Given the description of an element on the screen output the (x, y) to click on. 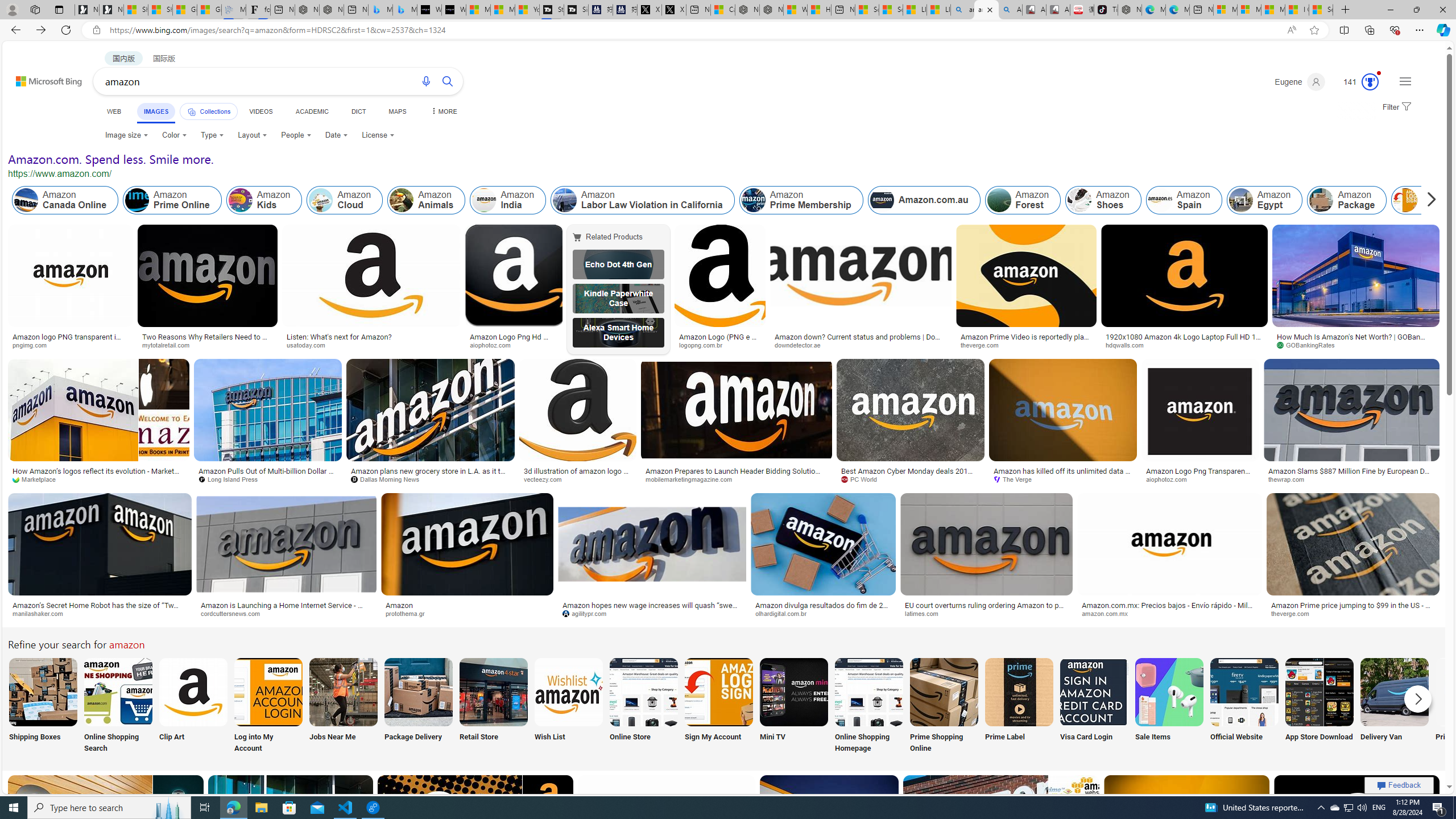
downdetector.ae (860, 344)
Amazon Forest (999, 200)
Two Reasons Why Retailers Need to Leverage Amazon (208, 340)
Amazon Cloud (320, 200)
Amazon Spain (1159, 200)
Amazonprotothema.grSave (469, 557)
Shanghai, China weather forecast | Microsoft Weather (159, 9)
Listen: What's next for Amazon?usatoday.comSave (373, 289)
Amazon Shipping Boxes Shipping Boxes (42, 706)
manilashaker.com (42, 612)
Amazon Sign in My Account Sign My Account (718, 706)
Amazon Online Shopping Search Online Shopping Search (118, 706)
